Given the description of an element on the screen output the (x, y) to click on. 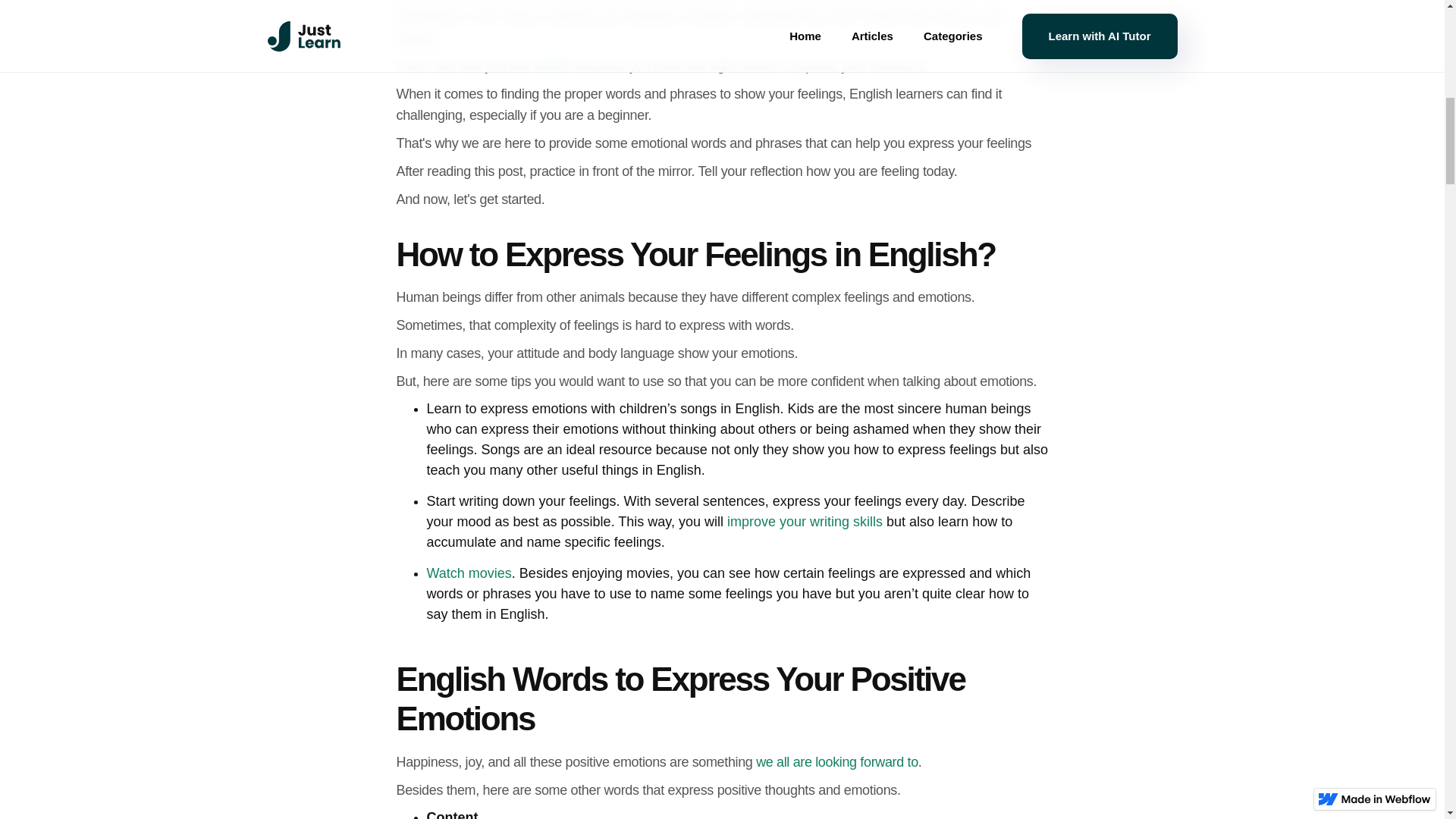
improve your writing skills (804, 521)
Watch movies (468, 572)
baffled (553, 65)
we all are looking forward to (836, 761)
